Given the description of an element on the screen output the (x, y) to click on. 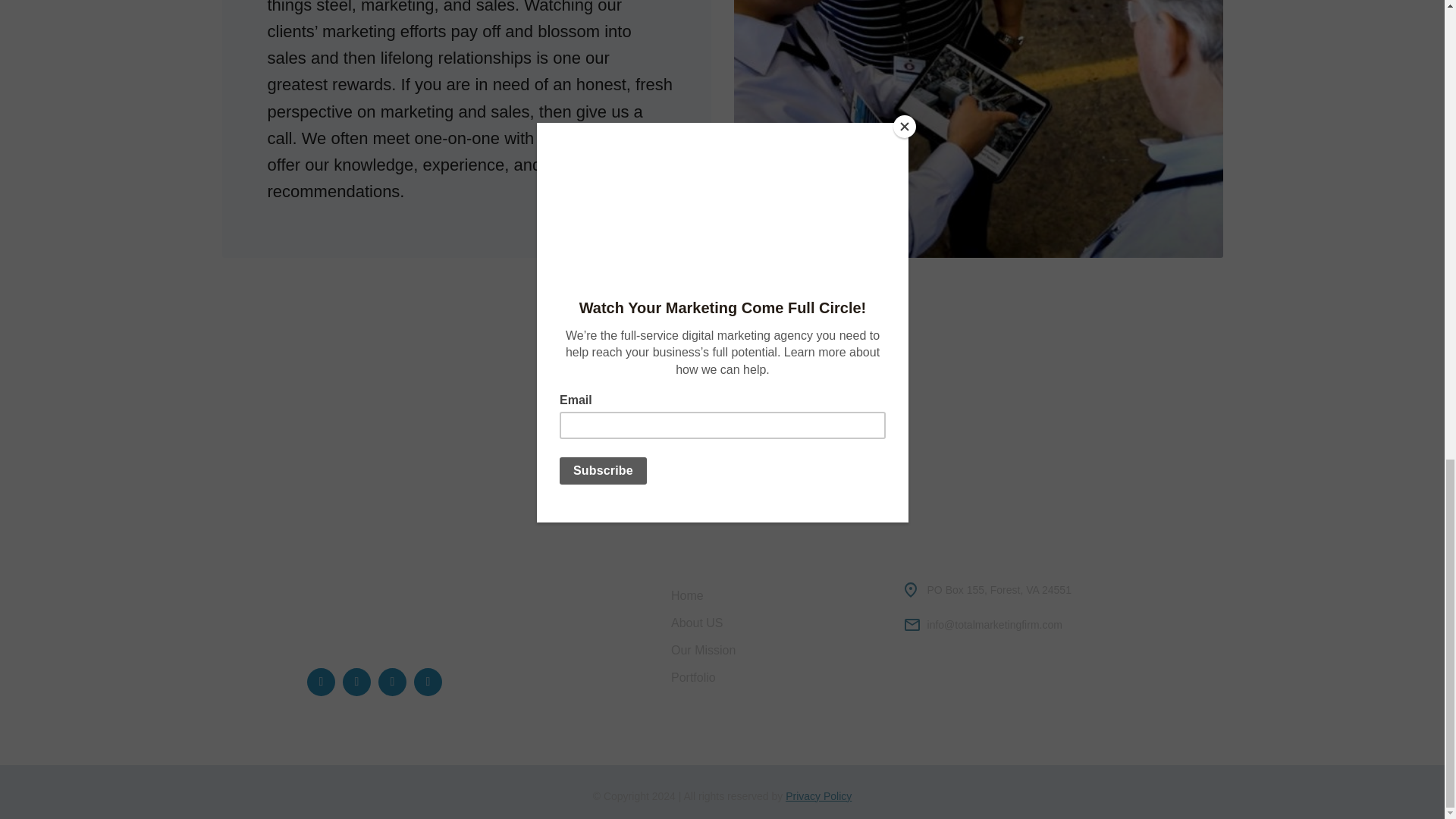
Privacy Policy (818, 796)
Total Marketing Solutions (361, 559)
About US (776, 623)
Portfolio (776, 677)
Our Mission (776, 650)
Home (776, 595)
Contact Us (721, 367)
